Given the description of an element on the screen output the (x, y) to click on. 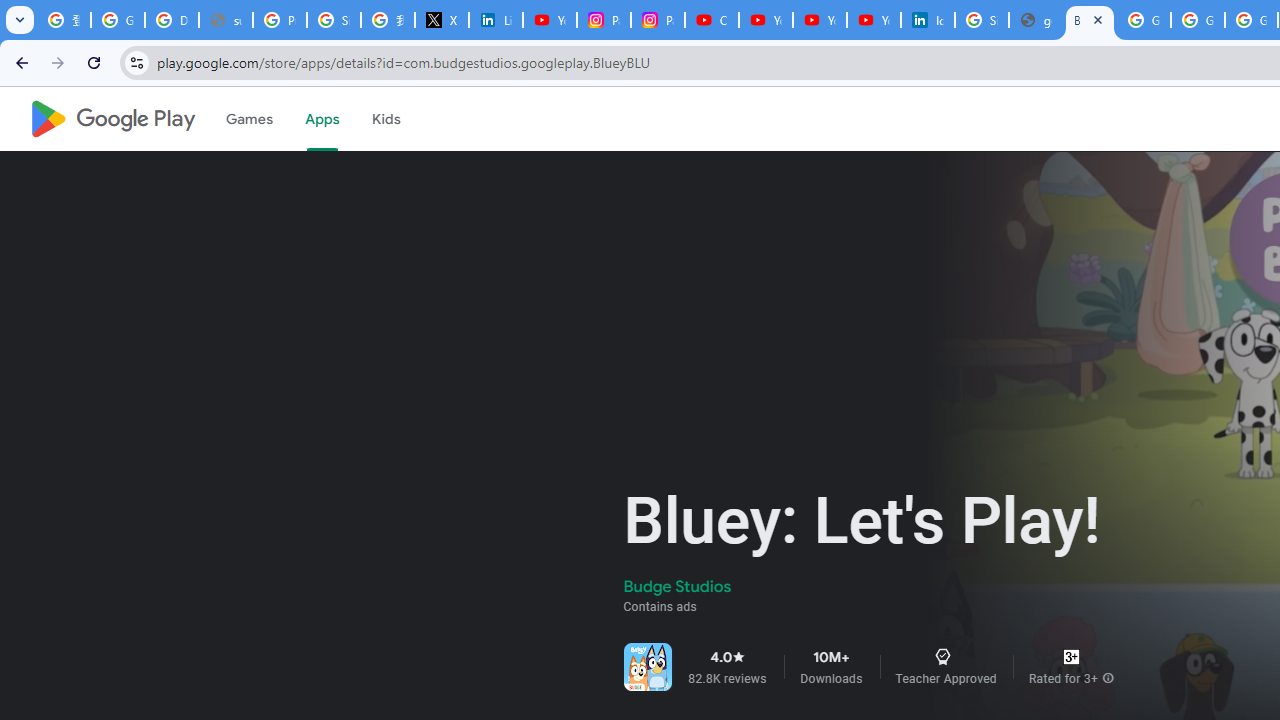
YouTube Culture & Trends - YouTube Top 10, 2021 (874, 20)
Games (248, 119)
More info about this content rating (1108, 678)
LinkedIn Privacy Policy (495, 20)
Budge Studios (677, 586)
Sign in - Google Accounts (333, 20)
X (441, 20)
Bluey: Let's Play! - Apps on Google Play (1089, 20)
